Given the description of an element on the screen output the (x, y) to click on. 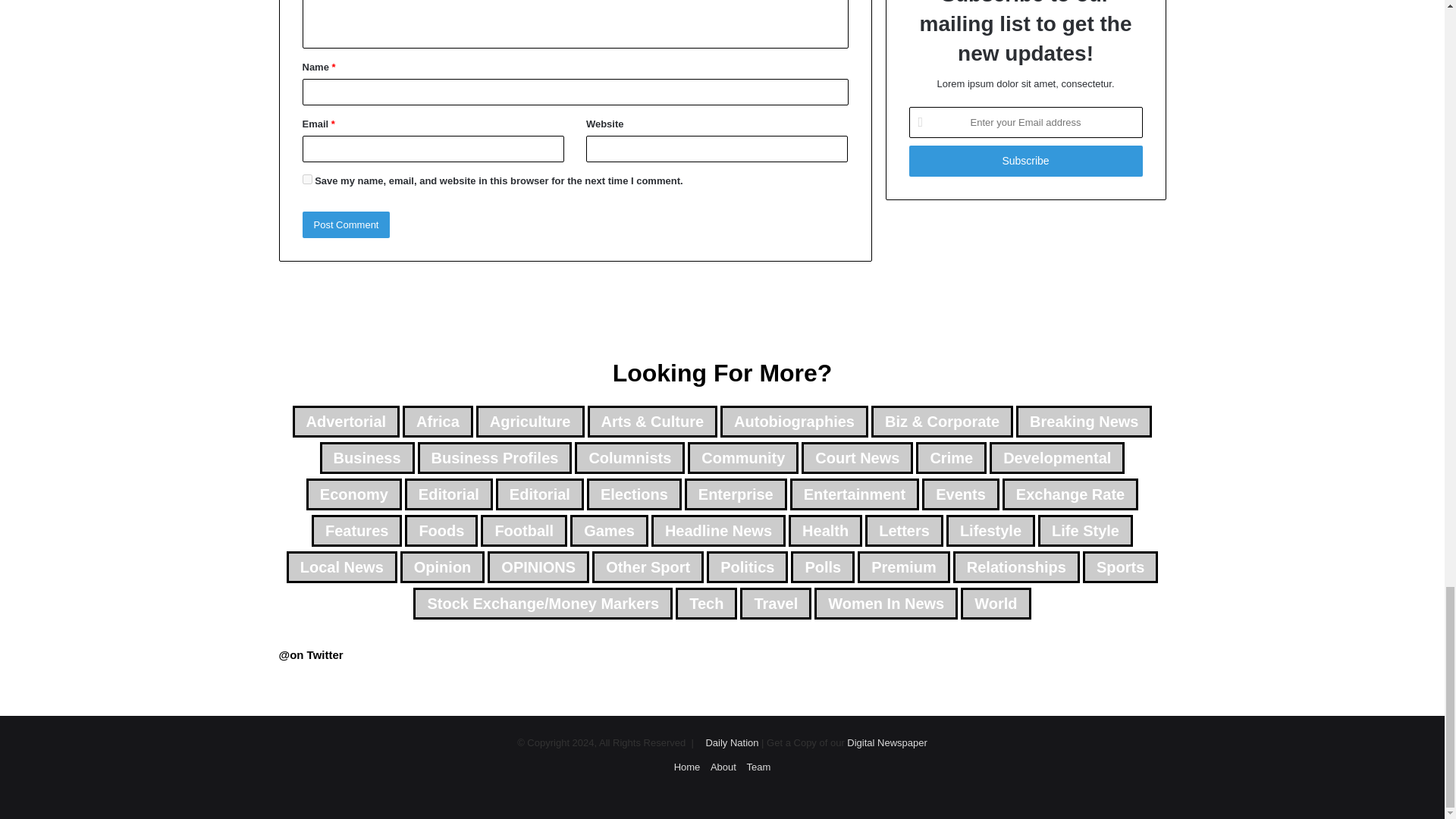
Post Comment (345, 224)
yes (306, 179)
Subscribe (1025, 160)
